Given the description of an element on the screen output the (x, y) to click on. 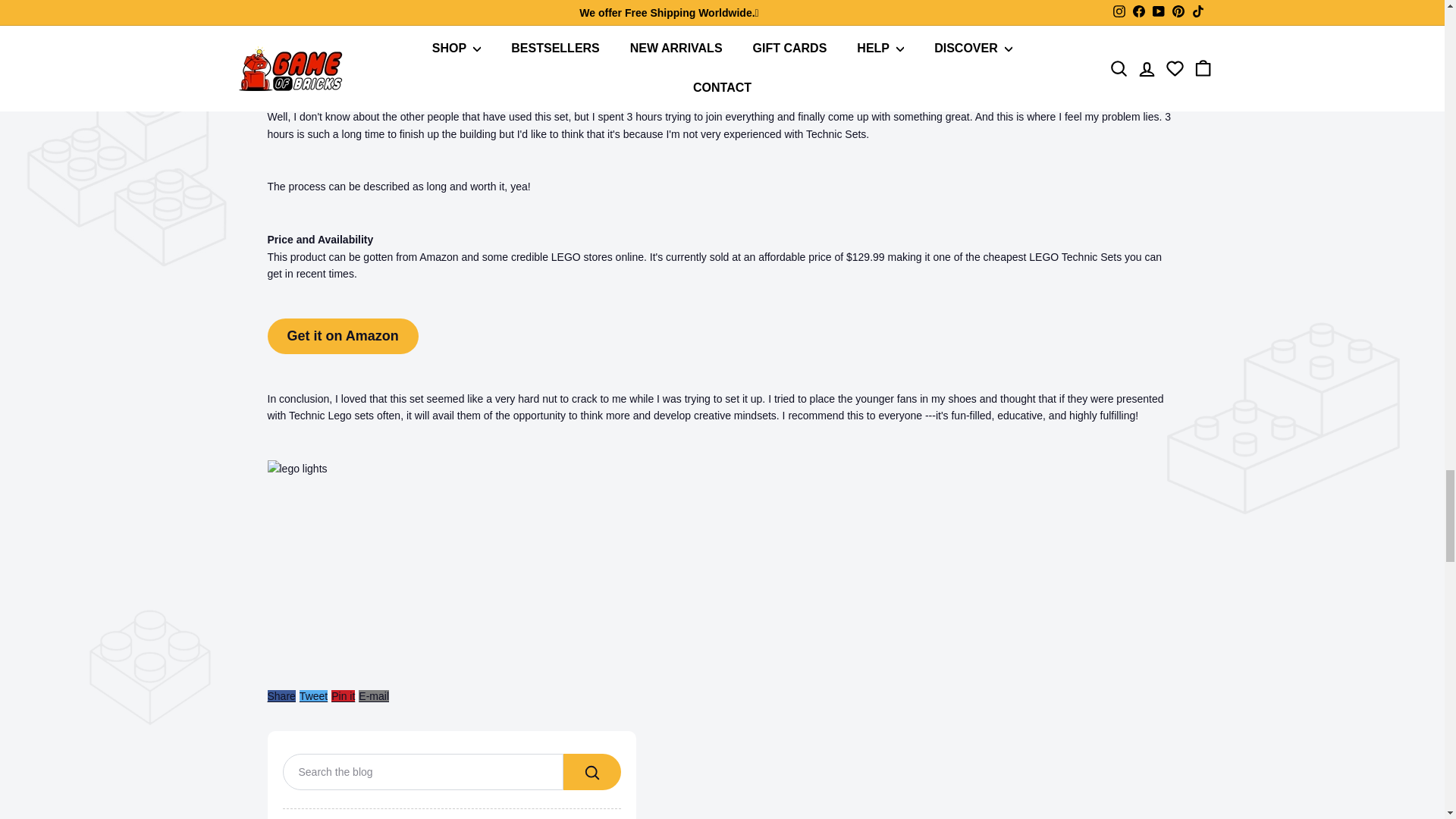
email (373, 695)
pinterest (343, 695)
twitter (313, 695)
facebook (280, 695)
